Given the description of an element on the screen output the (x, y) to click on. 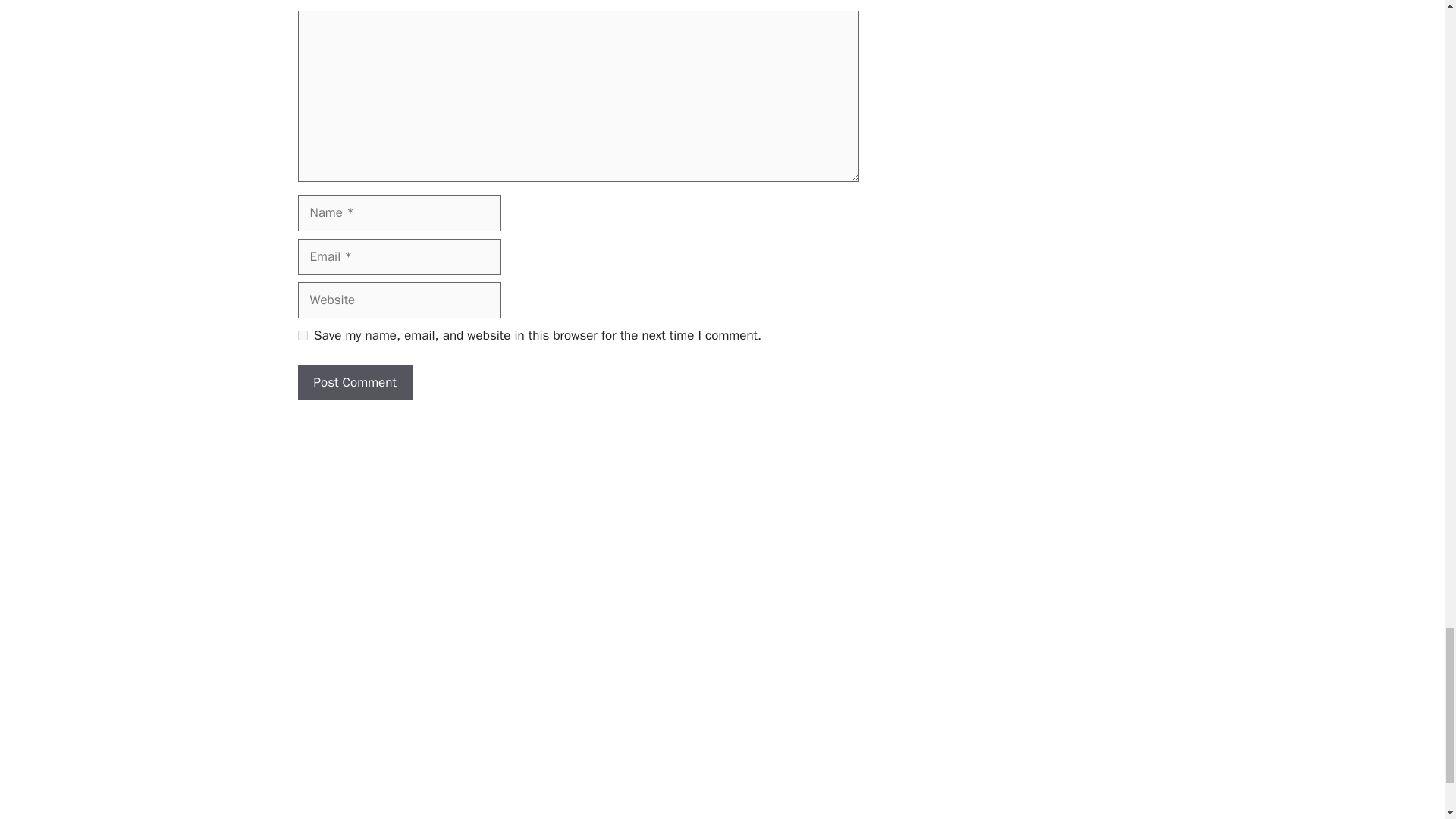
yes (302, 335)
Post Comment (354, 382)
Post Comment (354, 382)
